Given the description of an element on the screen output the (x, y) to click on. 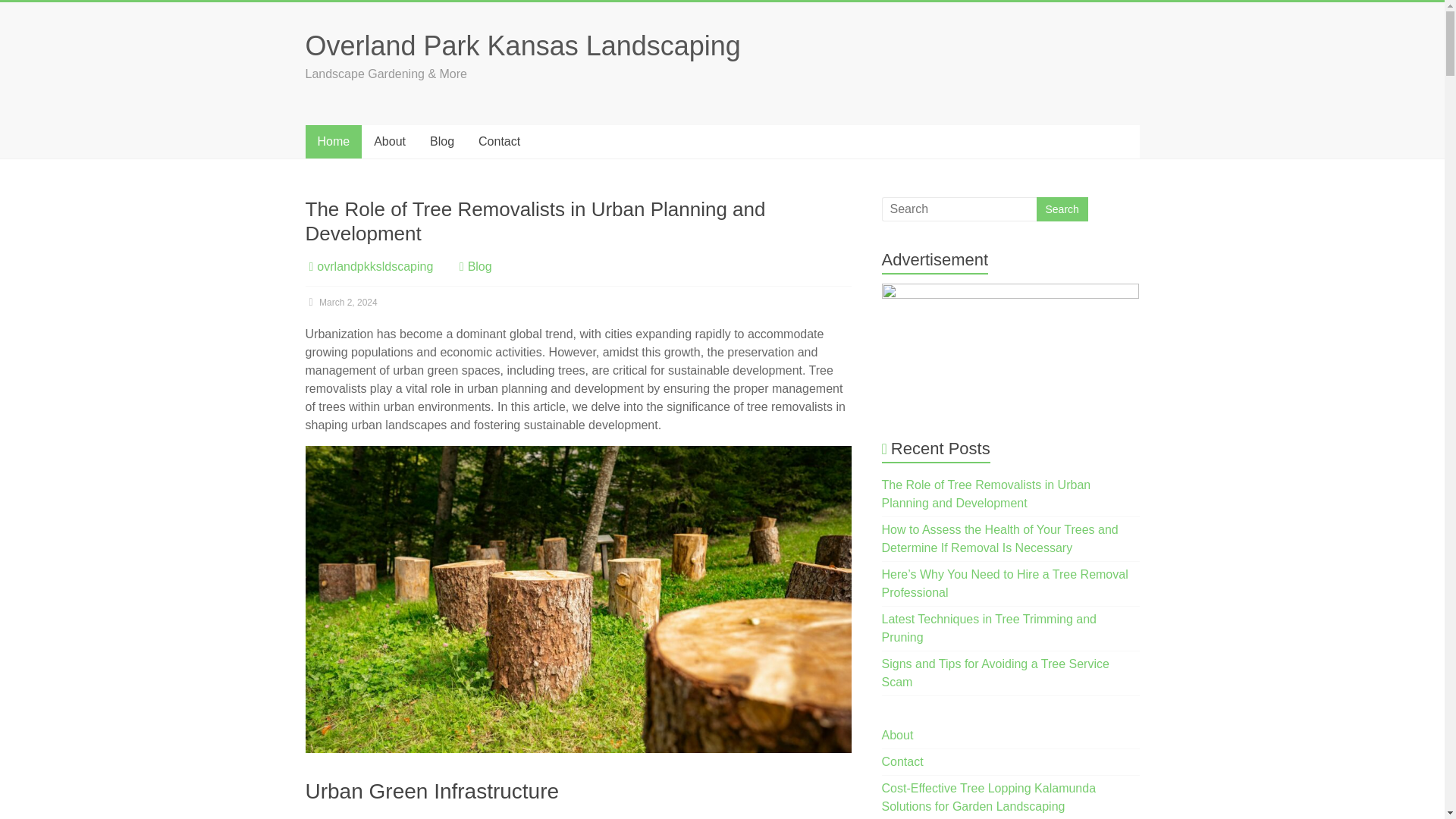
Overland Park Kansas Landscaping (521, 45)
Overland Park Kansas Landscaping (521, 45)
Contact (902, 761)
Blog (441, 141)
3:16 pm (340, 302)
Search (1061, 209)
Search (1061, 209)
Contact (498, 141)
Latest Techniques in Tree Trimming and Pruning (989, 627)
Home (332, 141)
Blog (479, 266)
